Given the description of an element on the screen output the (x, y) to click on. 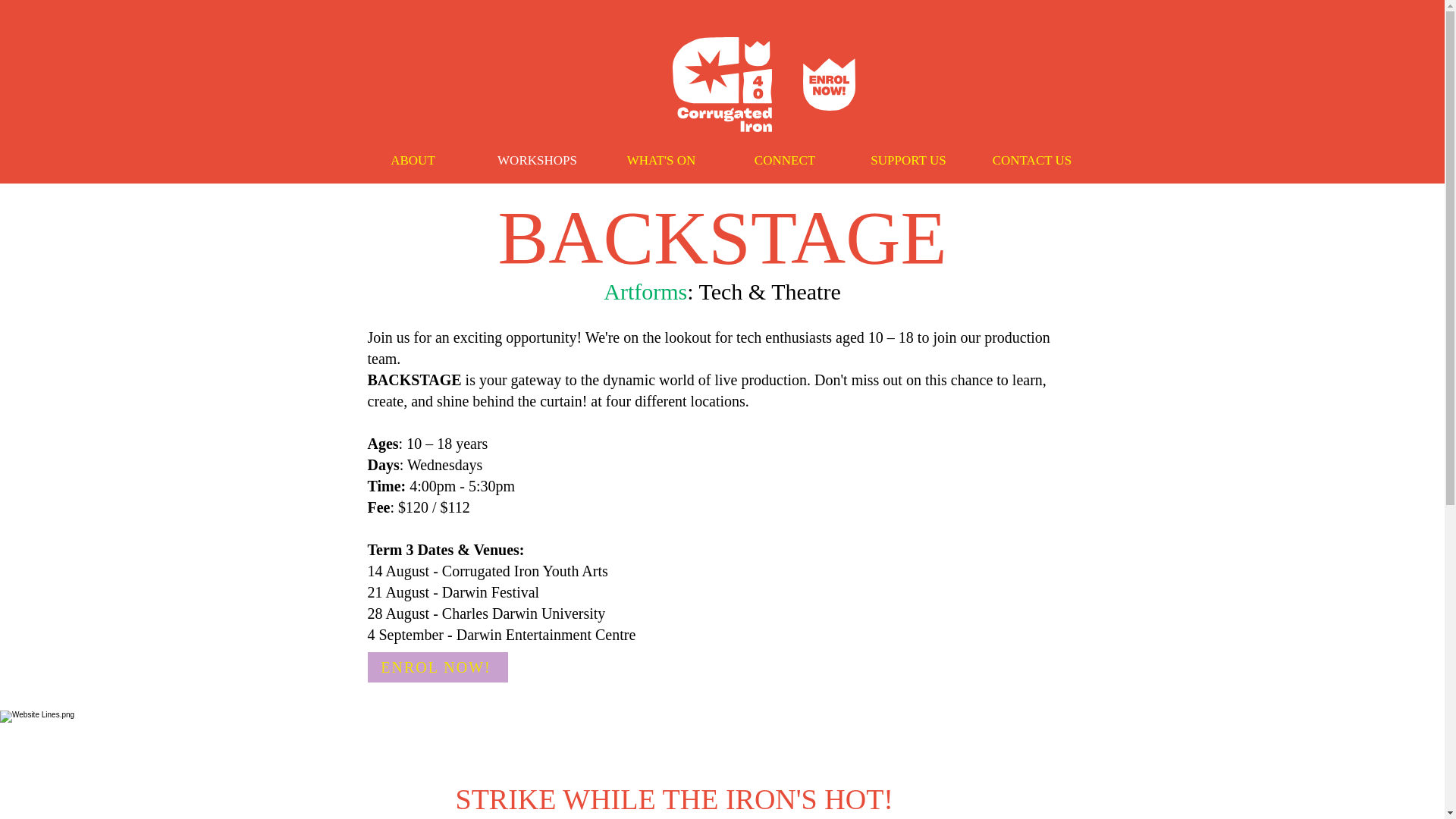
WORKSHOPS (536, 160)
SUPPORT US (907, 160)
ENROL NOW! (436, 666)
WHAT'S ON (660, 160)
ABOUT (412, 160)
CONTACT US (1032, 160)
CONNECT (785, 160)
